Given the description of an element on the screen output the (x, y) to click on. 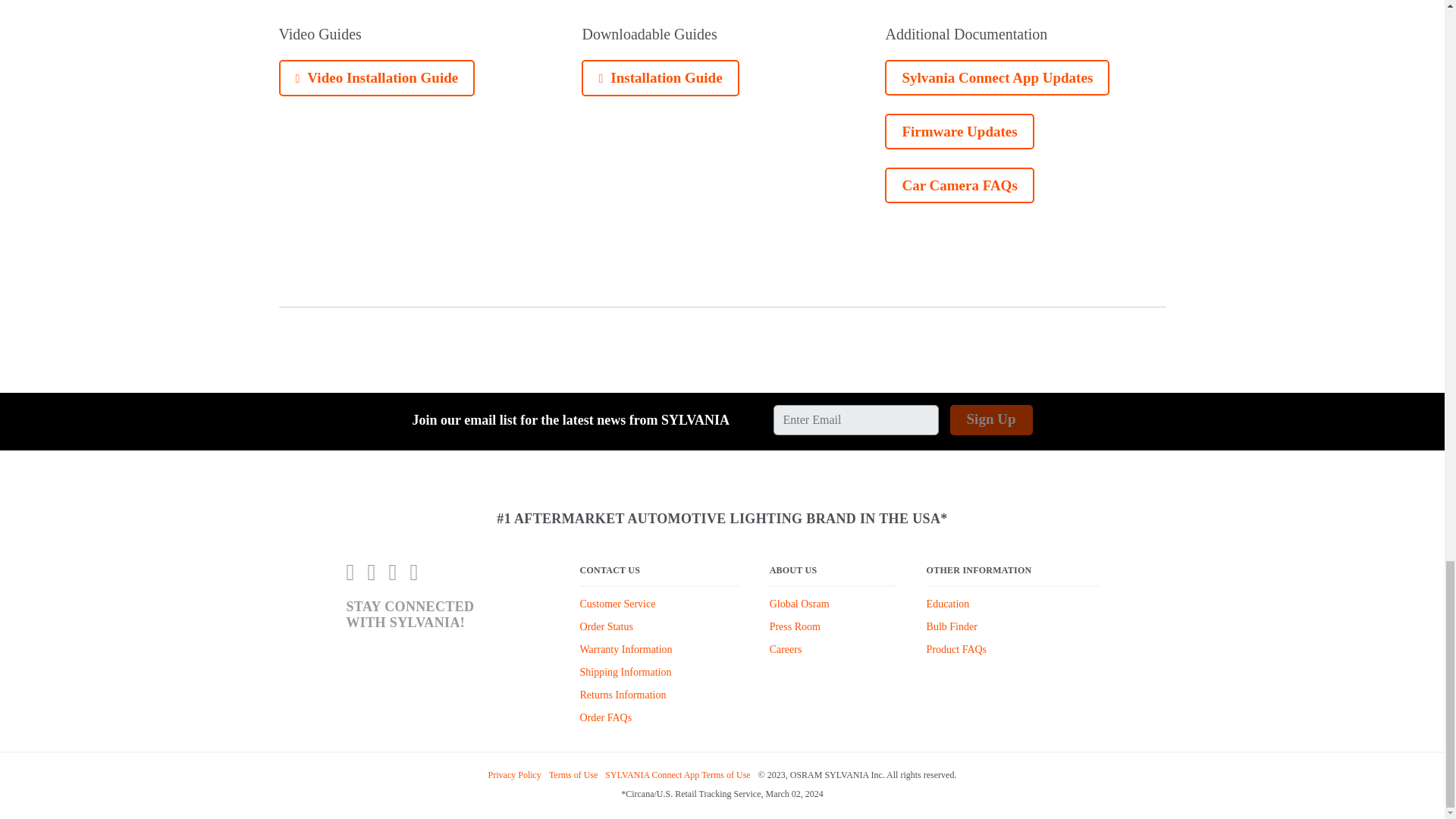
 Contact Customer Service (617, 603)
